Given the description of an element on the screen output the (x, y) to click on. 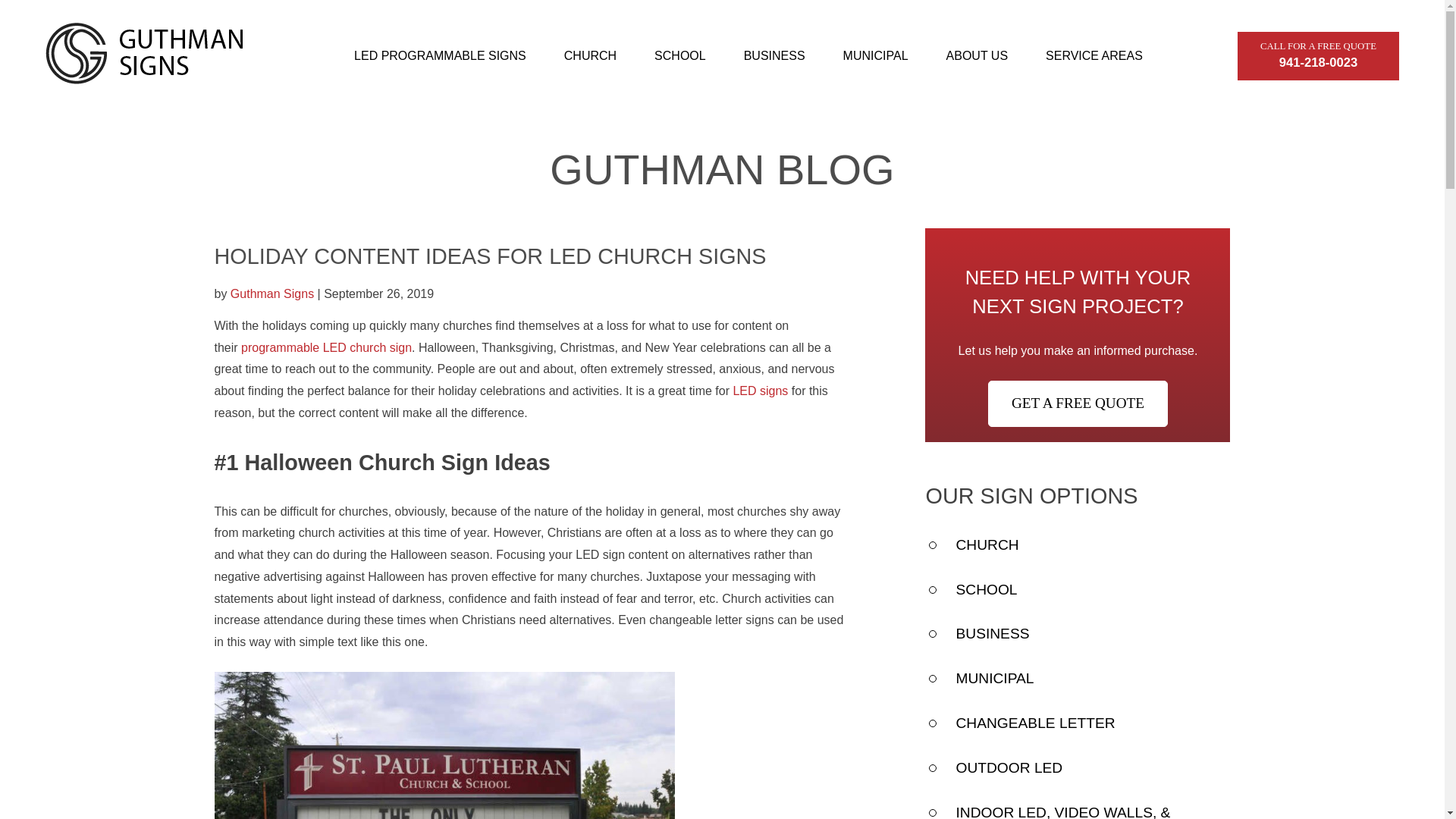
SCHOOL (679, 55)
Guthman Signs (272, 293)
CHANGEABLE LETTER (1035, 722)
SCHOOL (985, 589)
GET A FREE QUOTE (1077, 403)
OUTDOOR LED (1318, 55)
LED PROGRAMMABLE SIGNS (1008, 767)
CHURCH (439, 55)
ABOUT US (986, 544)
